Given the description of an element on the screen output the (x, y) to click on. 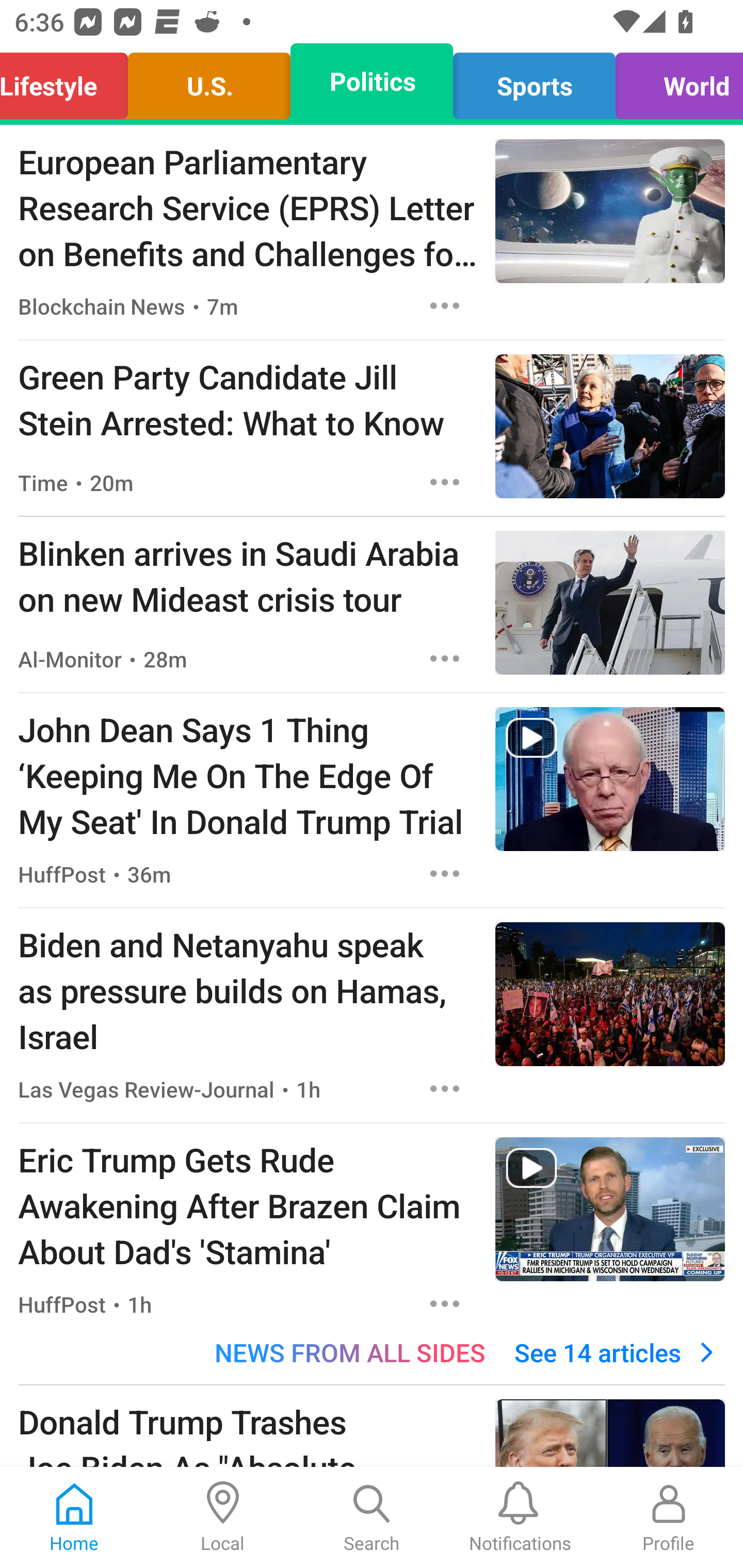
Lifestyle (69, 81)
U.S. (209, 81)
Politics (371, 81)
Sports (534, 81)
World (673, 81)
Options (444, 305)
Options (444, 481)
Options (444, 658)
Options (444, 873)
Options (444, 1088)
Options (444, 1303)
NEWS FROM ALL SIDES See 14 articles (371, 1352)
Local (222, 1517)
Search (371, 1517)
Notifications (519, 1517)
Profile (668, 1517)
